Given the description of an element on the screen output the (x, y) to click on. 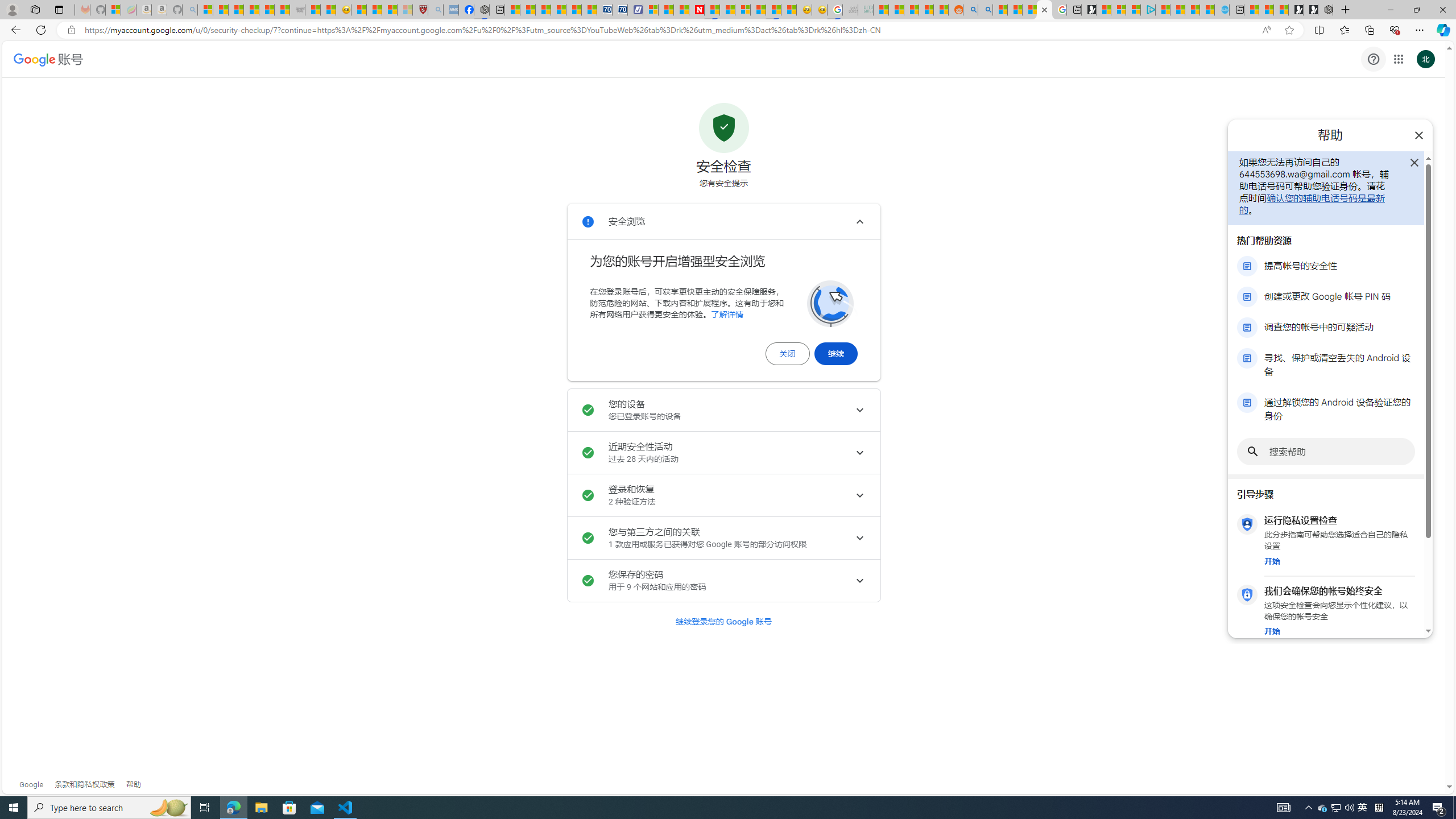
Cheap Hotels - Save70.com (619, 9)
New Report Confirms 2023 Was Record Hot | Watch (266, 9)
